Given the description of an element on the screen output the (x, y) to click on. 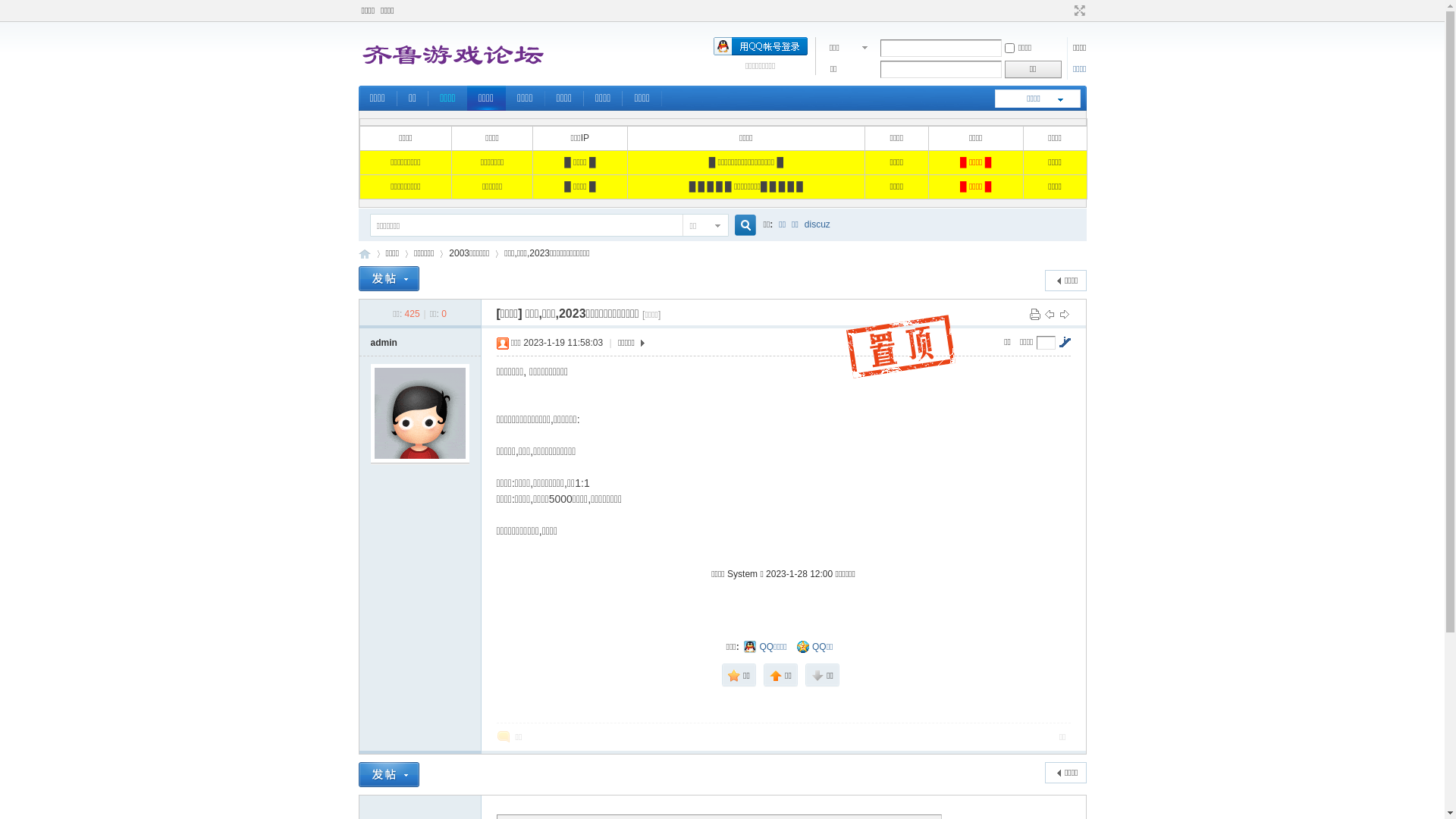
true Element type: text (738, 225)
discuz Element type: text (817, 224)
admin Element type: text (383, 342)
